Given the description of an element on the screen output the (x, y) to click on. 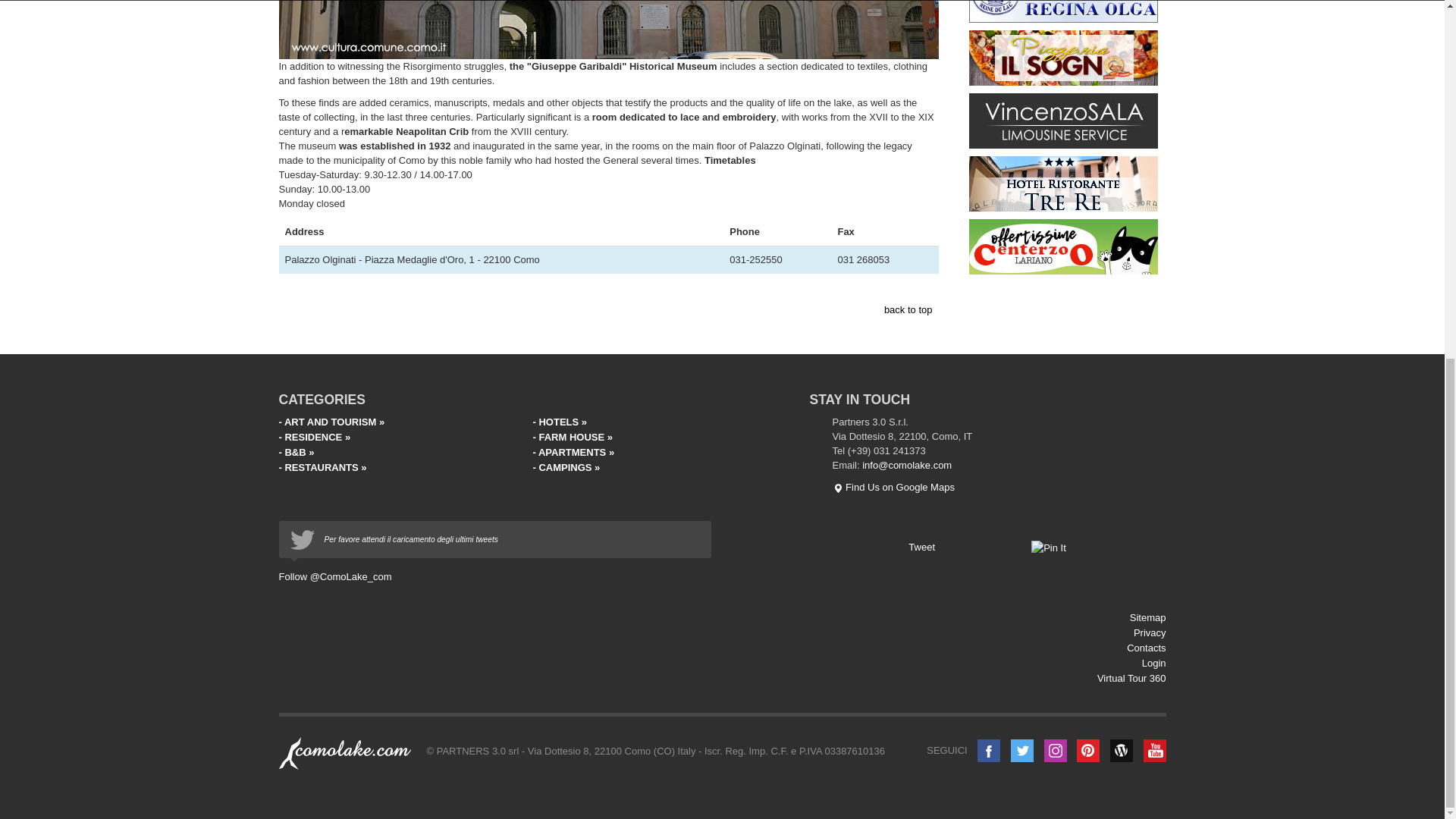
Seguici su Instagram (1055, 750)
Vincenzo Sala (1063, 120)
CenterZoo (1063, 245)
Seguici su Facebook (988, 750)
Hotel Ristorante Tre Re (1063, 183)
Seguici su Twitter (1021, 750)
Pin It (1047, 548)
Seguici su Pinterest (1088, 750)
Pizzeria il sogno (1063, 57)
Seguici su Wordpress (1120, 750)
